Given the description of an element on the screen output the (x, y) to click on. 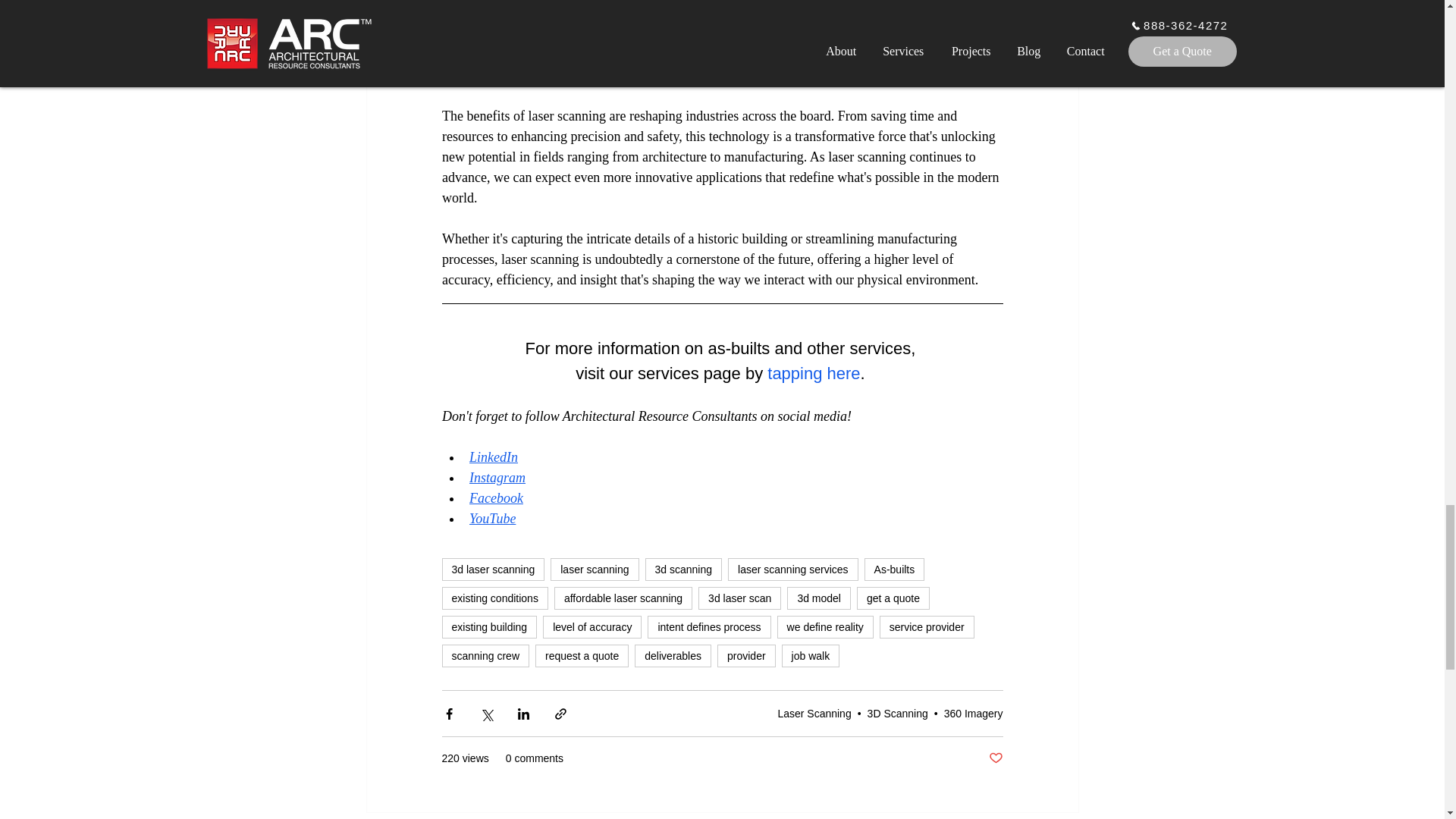
Instagram (496, 477)
LinkedIn (492, 457)
laser scanning (594, 568)
3d laser scanning (492, 568)
Facebook (495, 498)
laser scanning services (793, 568)
3d scanning (683, 568)
YouTube (491, 518)
tapping here (813, 373)
